Given the description of an element on the screen output the (x, y) to click on. 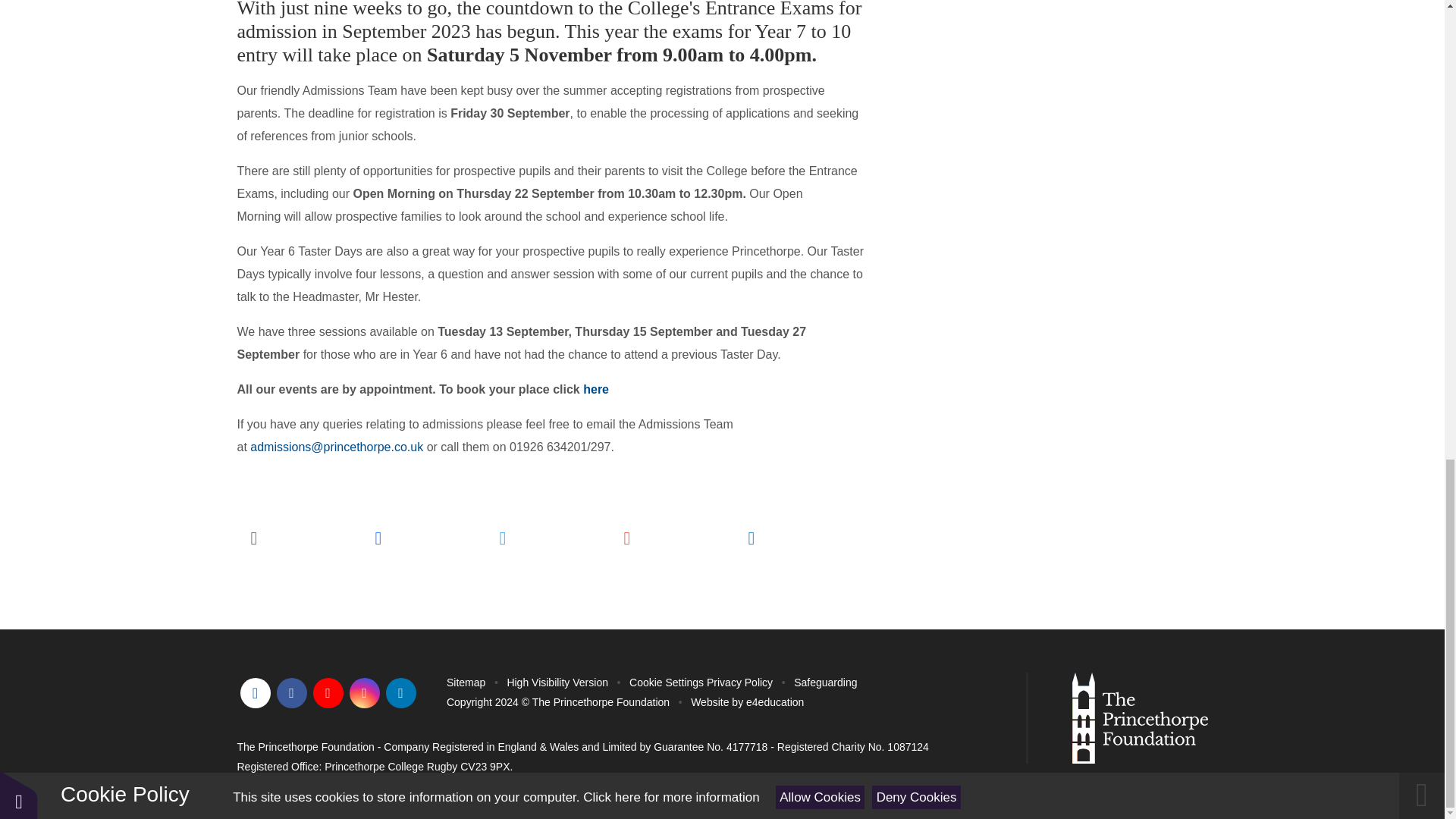
Cookie Settings (665, 682)
